Given the description of an element on the screen output the (x, y) to click on. 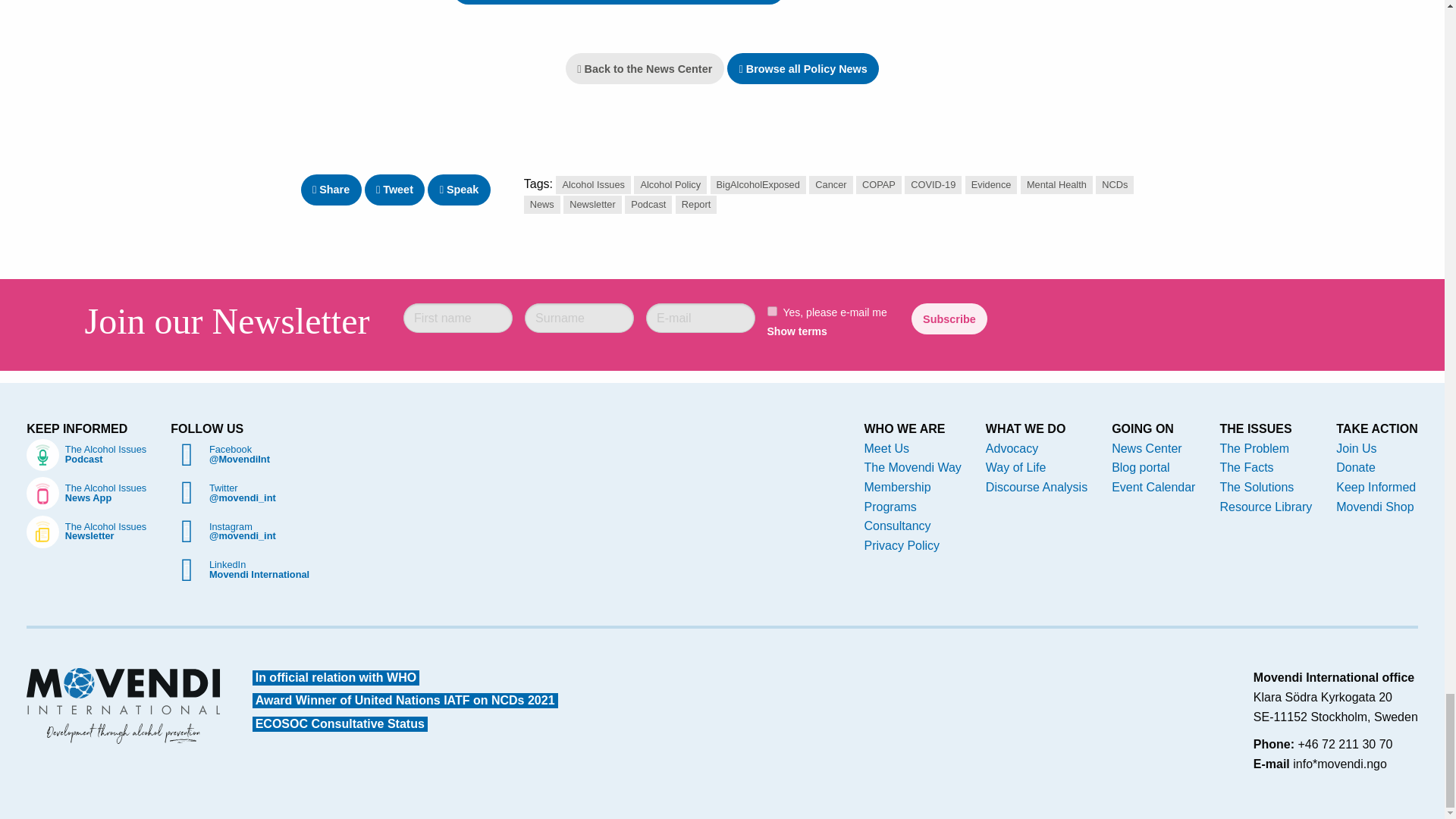
Y (772, 311)
Subscribe (949, 318)
